Given the description of an element on the screen output the (x, y) to click on. 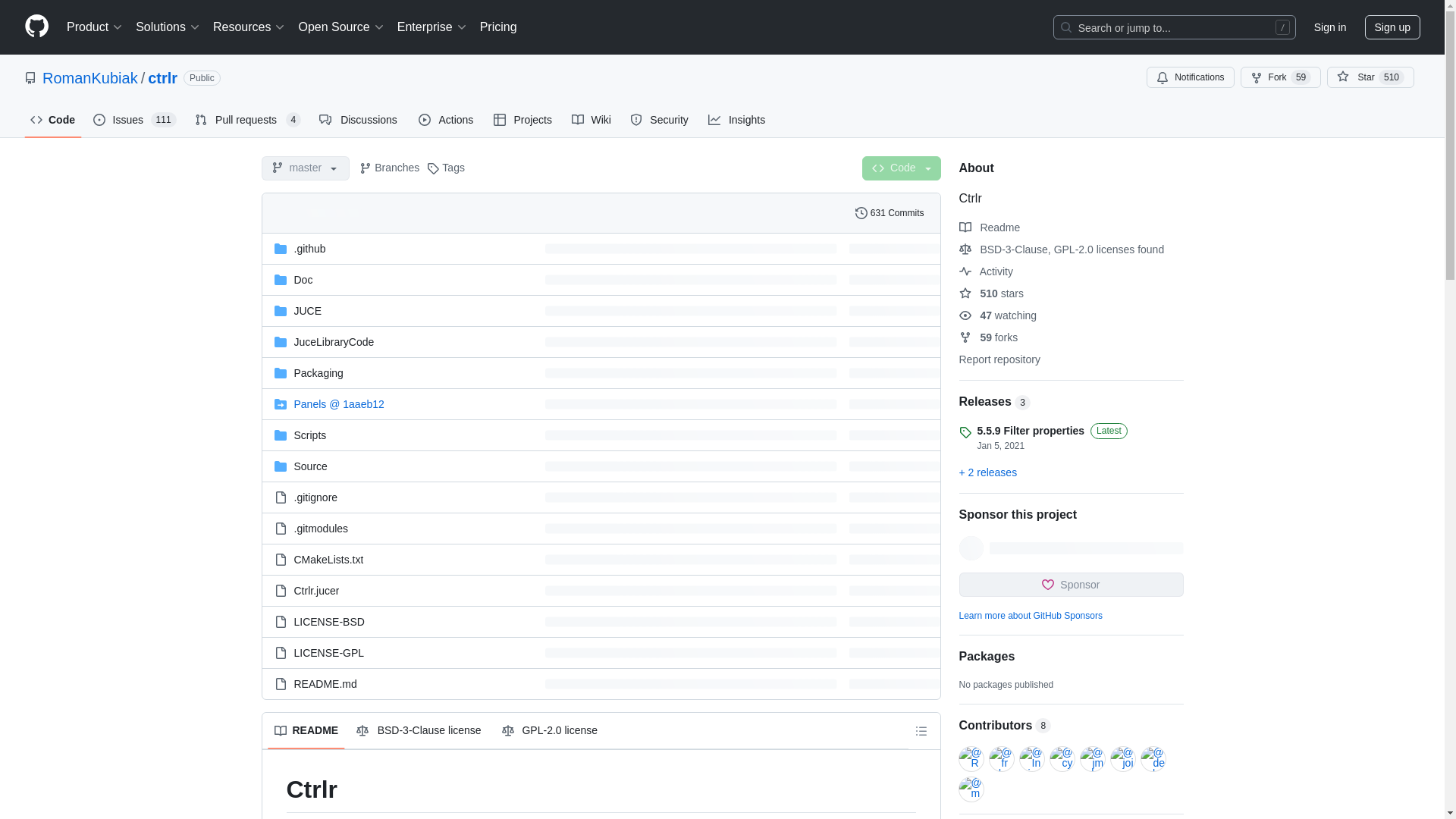
Doc (303, 278)
JUCE (307, 310)
510 (1391, 77)
Resources (249, 27)
.github (310, 248)
4 (293, 119)
59 (1300, 77)
Product (95, 27)
Solutions (167, 27)
Open Source (341, 27)
